Given the description of an element on the screen output the (x, y) to click on. 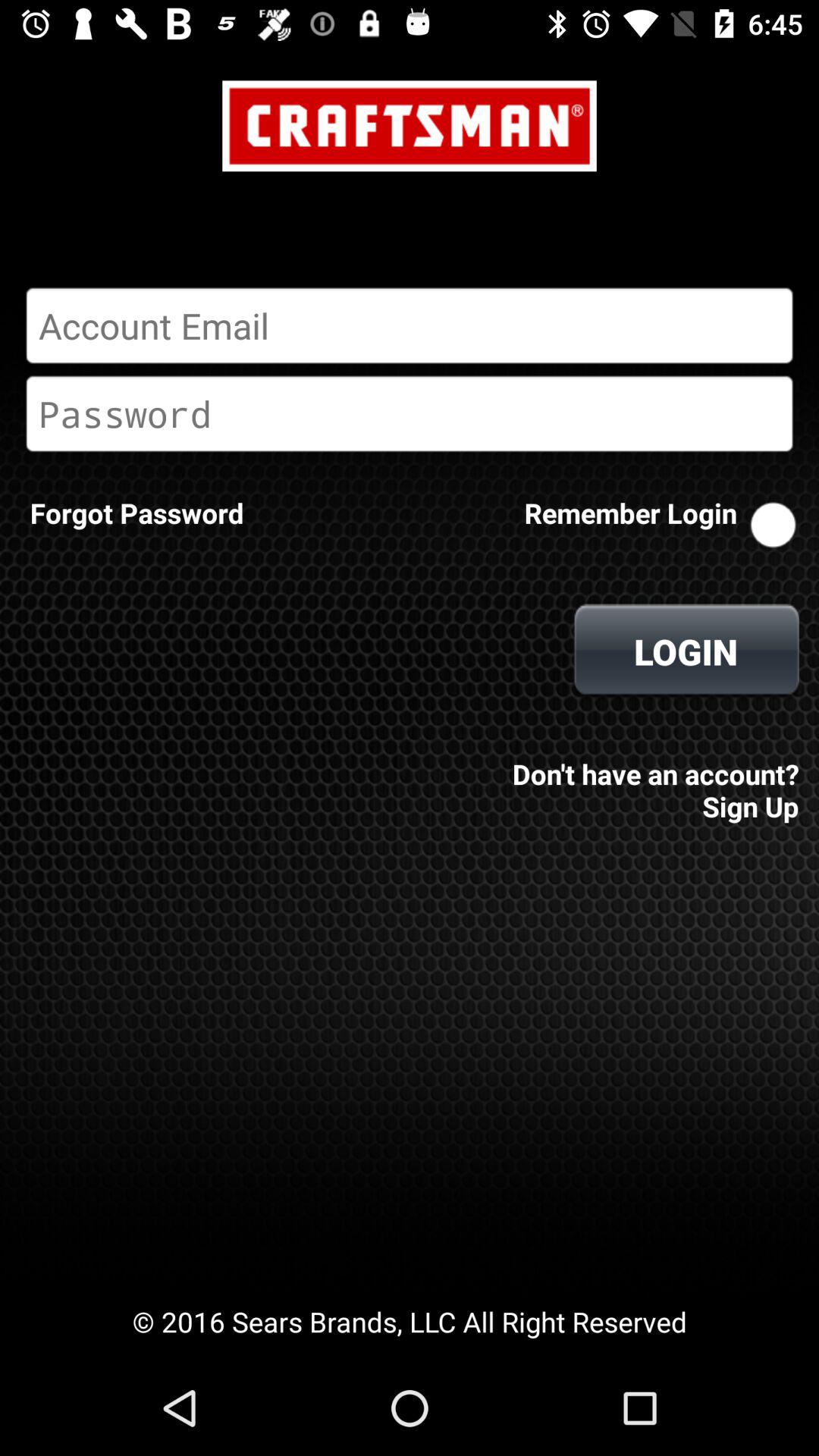
password entry box (409, 413)
